Given the description of an element on the screen output the (x, y) to click on. 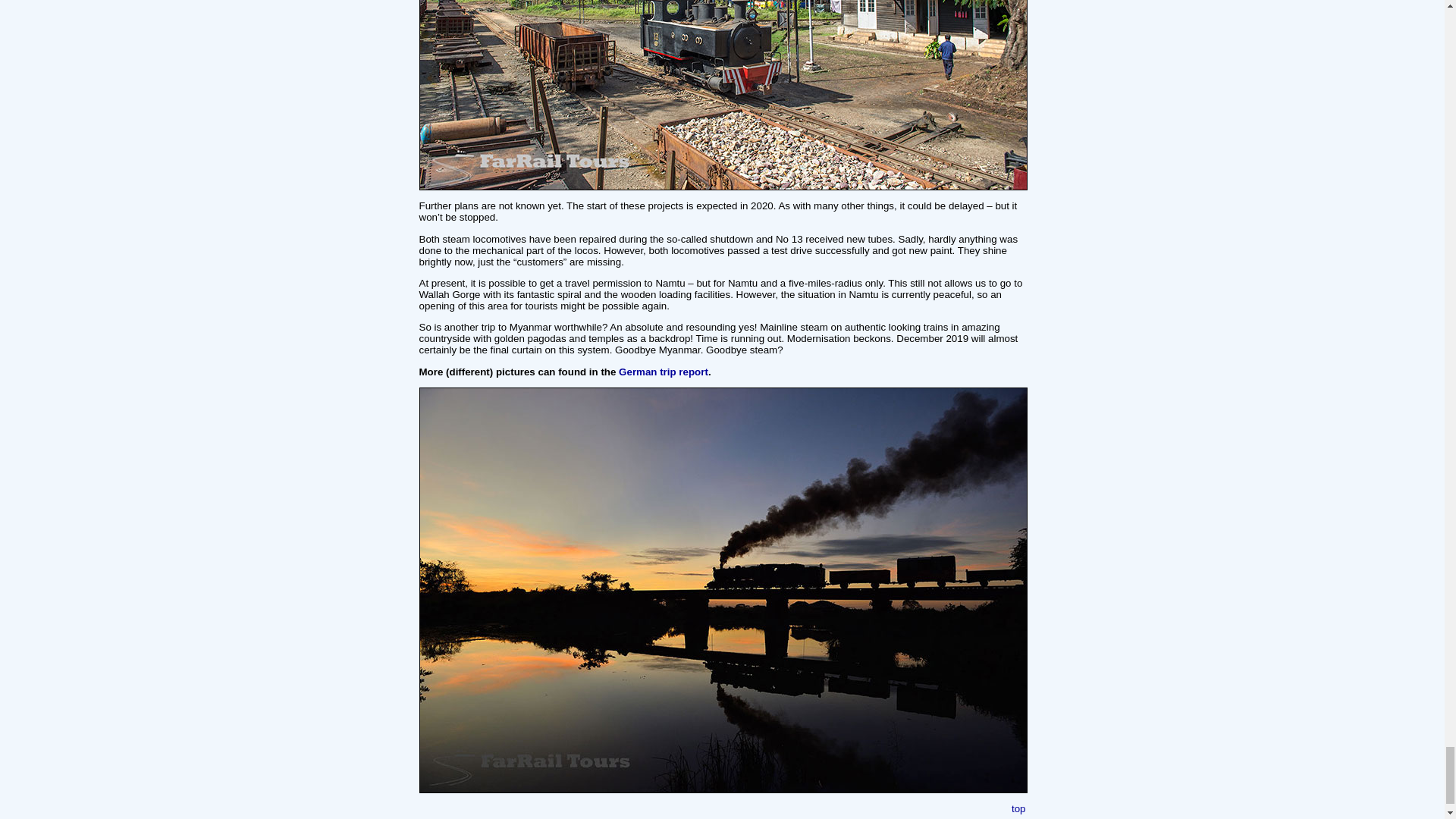
top (1018, 808)
Trip report Main Line Steam in German (662, 371)
German trip report (662, 371)
